Given the description of an element on the screen output the (x, y) to click on. 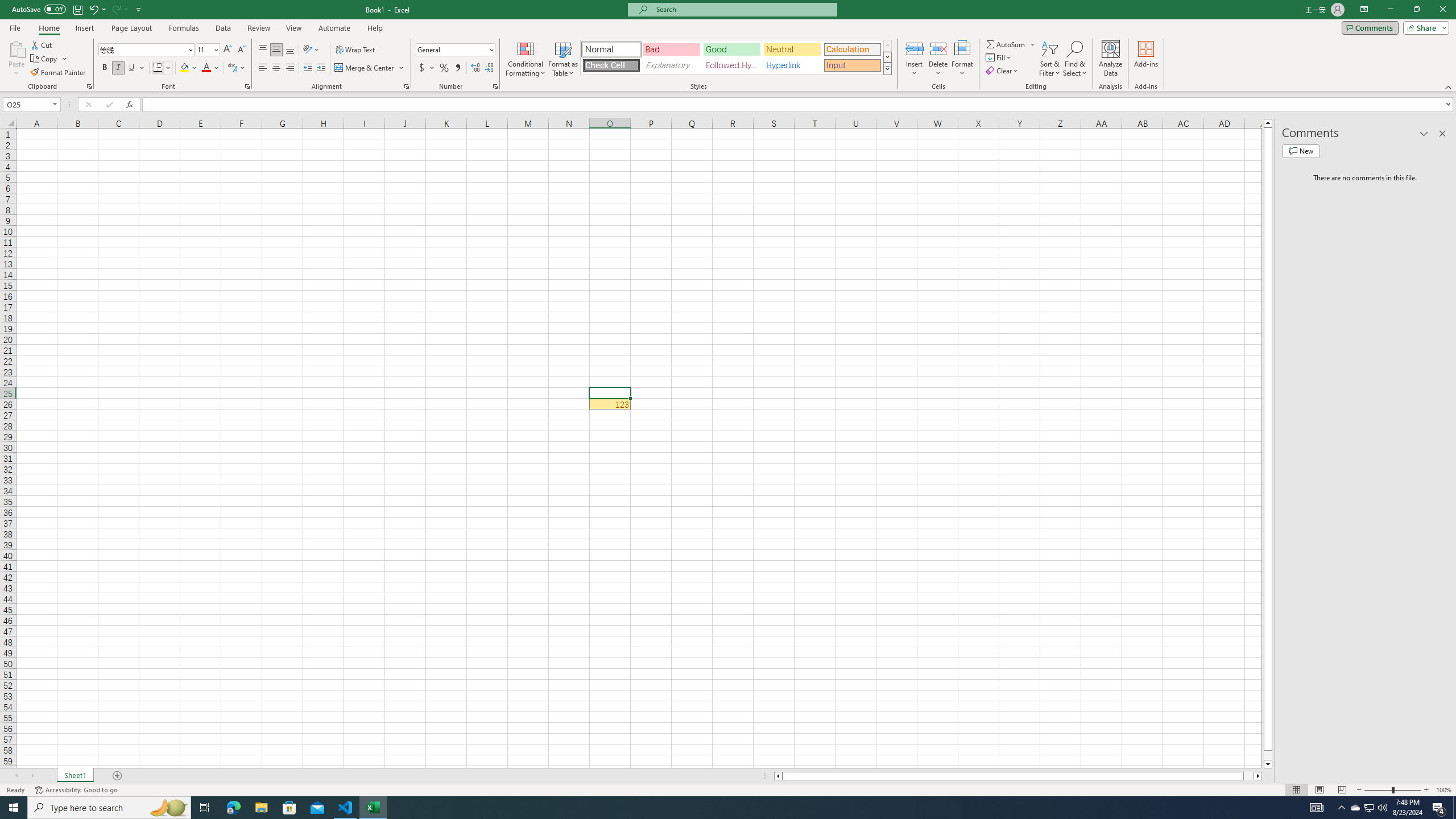
Hyperlink (791, 65)
Format Cell Alignment (405, 85)
Delete (938, 58)
Insert Cells (914, 48)
Copy (49, 58)
Bad (671, 49)
Percent Style (443, 67)
Format (962, 58)
